Given the description of an element on the screen output the (x, y) to click on. 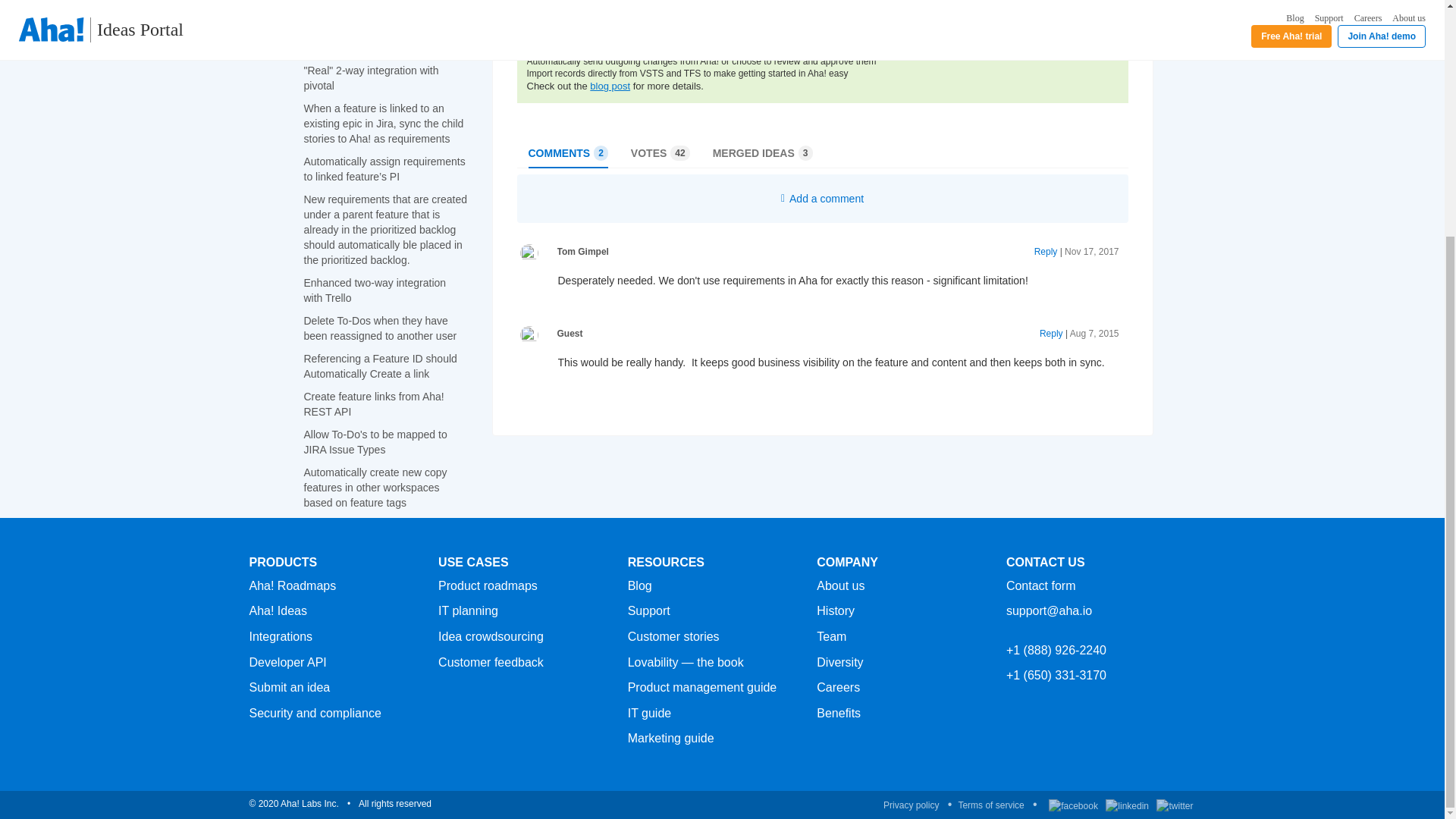
"Real" 2-way integration with pivotal (370, 77)
Referencing a Feature ID should Automatically Create a link (379, 366)
Create feature links from Aha! REST API (373, 403)
Enhanced two-way integration with Trello (373, 289)
Allow To-Do's to be mapped to JIRA Issue Types (374, 441)
blog post (609, 85)
Delete To-Dos when they have been reassigned to another user (379, 328)
